Given the description of an element on the screen output the (x, y) to click on. 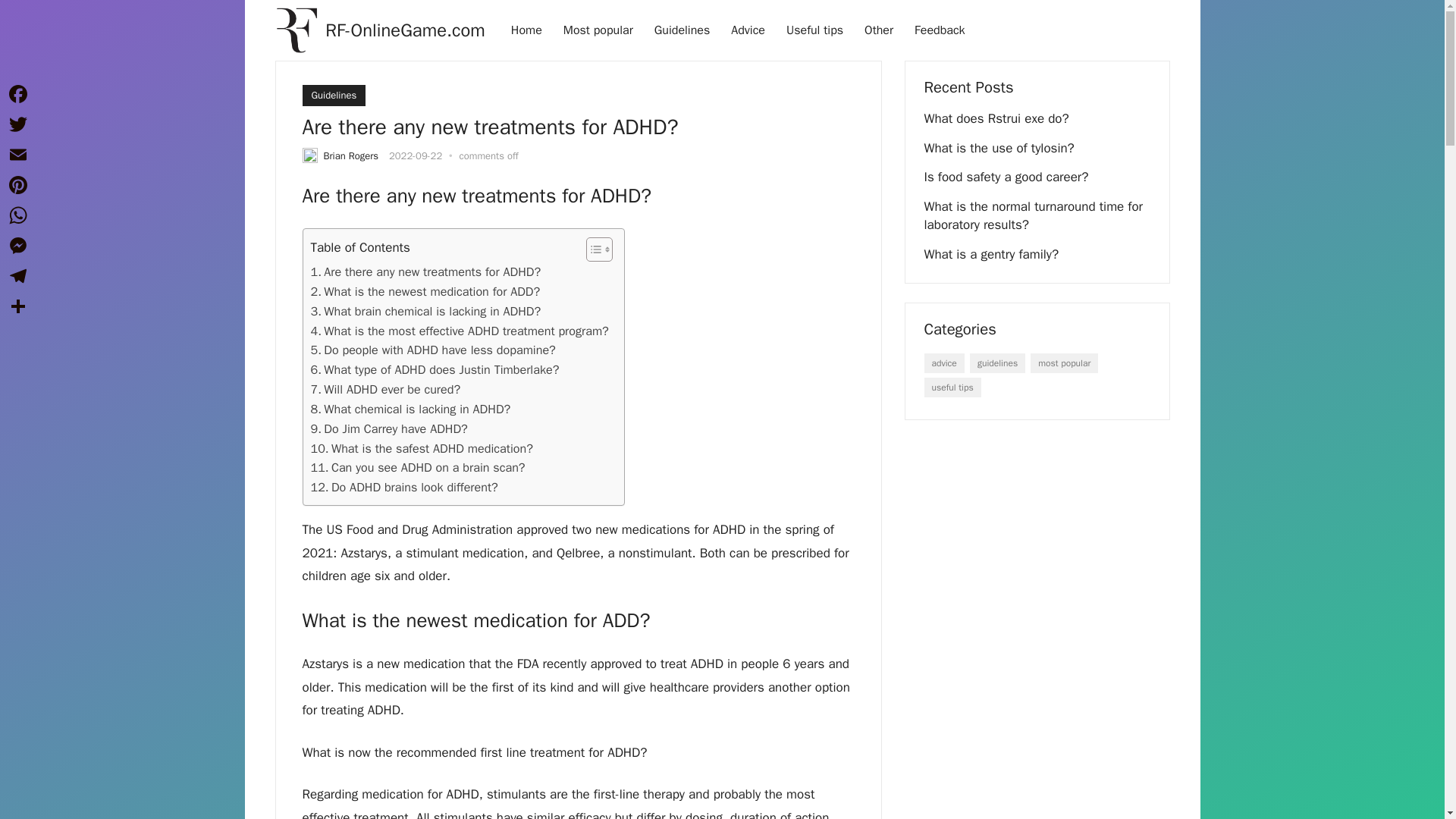
What is the newest medication for ADD? (425, 291)
Home (526, 30)
Do ADHD brains look different? (404, 487)
Do Jim Carrey have ADHD? (389, 428)
Do people with ADHD have less dopamine? (433, 350)
What type of ADHD does Justin Timberlake? (435, 370)
Can you see ADHD on a brain scan? (418, 467)
What brain chemical is lacking in ADHD? (426, 311)
Do people with ADHD have less dopamine? (433, 350)
What chemical is lacking in ADHD? (411, 409)
